Given the description of an element on the screen output the (x, y) to click on. 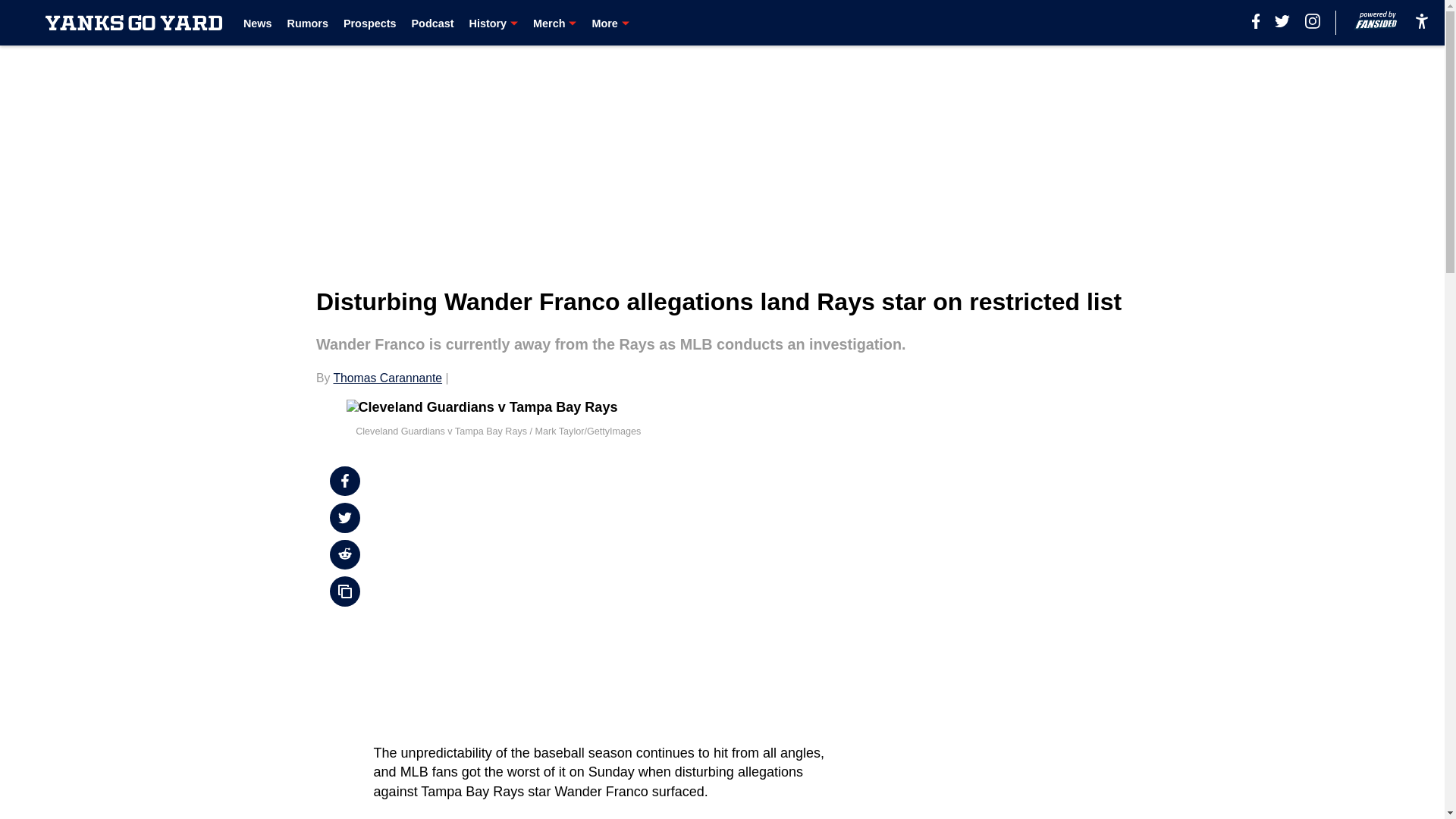
Rumors (307, 23)
Thomas Carannante (387, 377)
News (257, 23)
Prospects (369, 23)
Podcast (431, 23)
New York Yankees (457, 817)
